Given the description of an element on the screen output the (x, y) to click on. 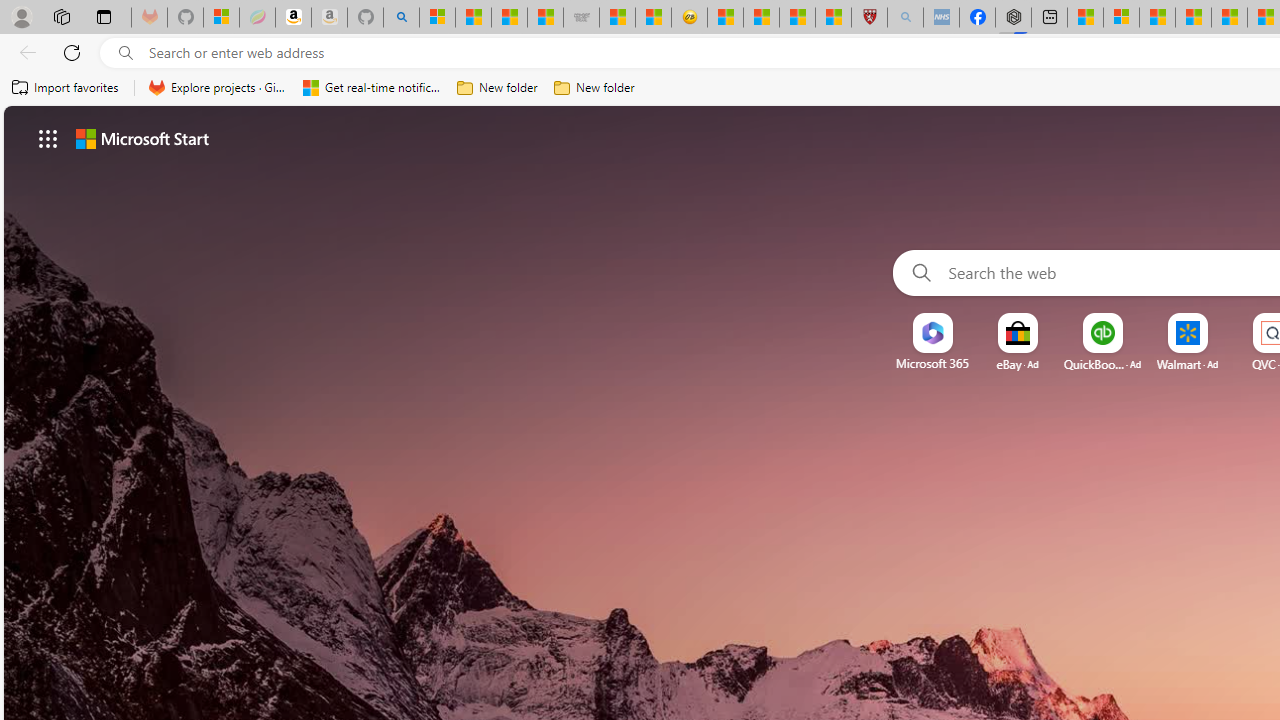
Search icon (125, 53)
12 Popular Science Lies that Must be Corrected (833, 17)
